Given the description of an element on the screen output the (x, y) to click on. 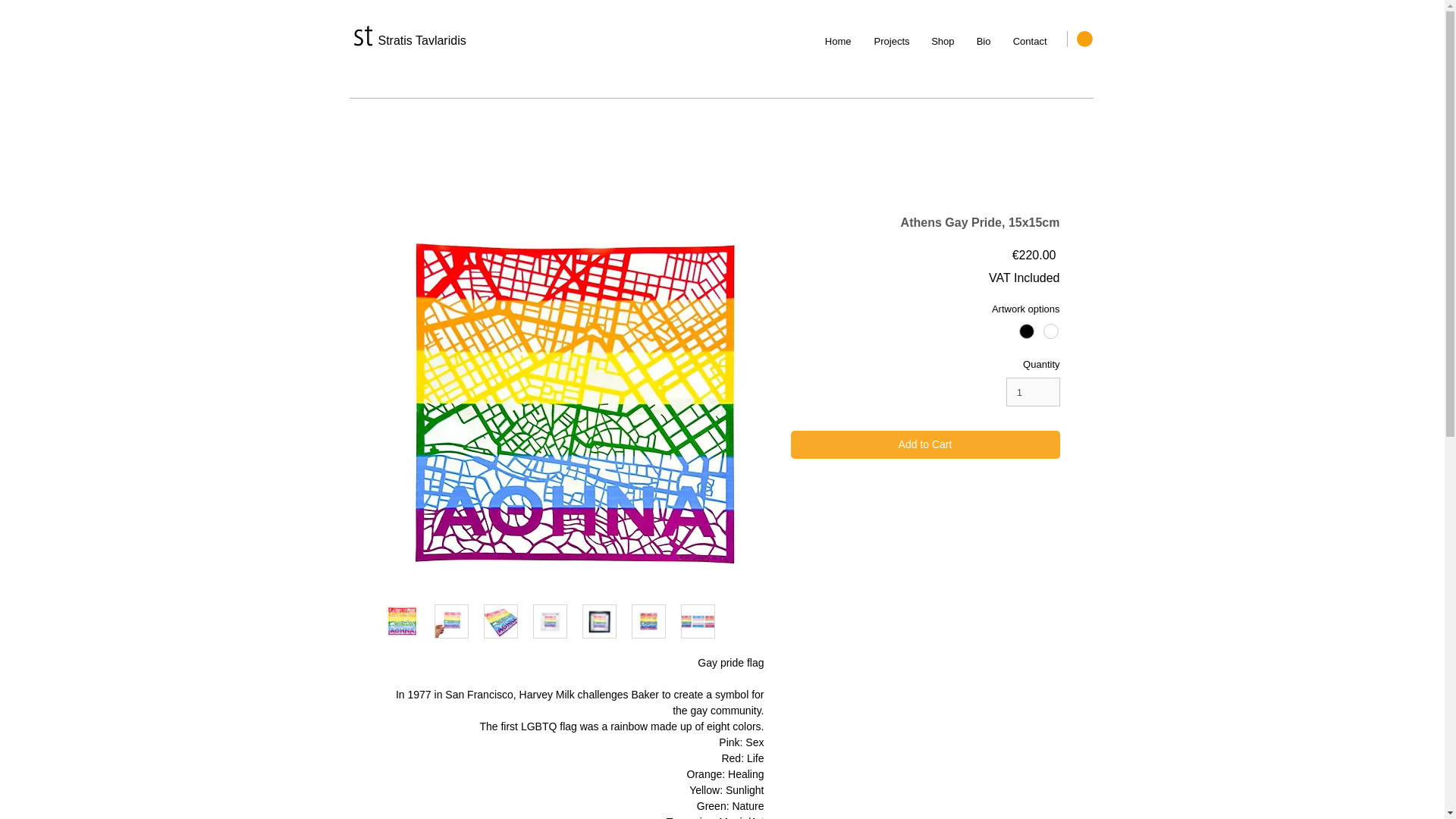
Stratis Tavlaridis (422, 40)
Contact (1023, 34)
Home (832, 34)
Projects (886, 34)
Bio (977, 34)
Shop (937, 34)
Add to Cart (924, 444)
1 (1032, 391)
